Given the description of an element on the screen output the (x, y) to click on. 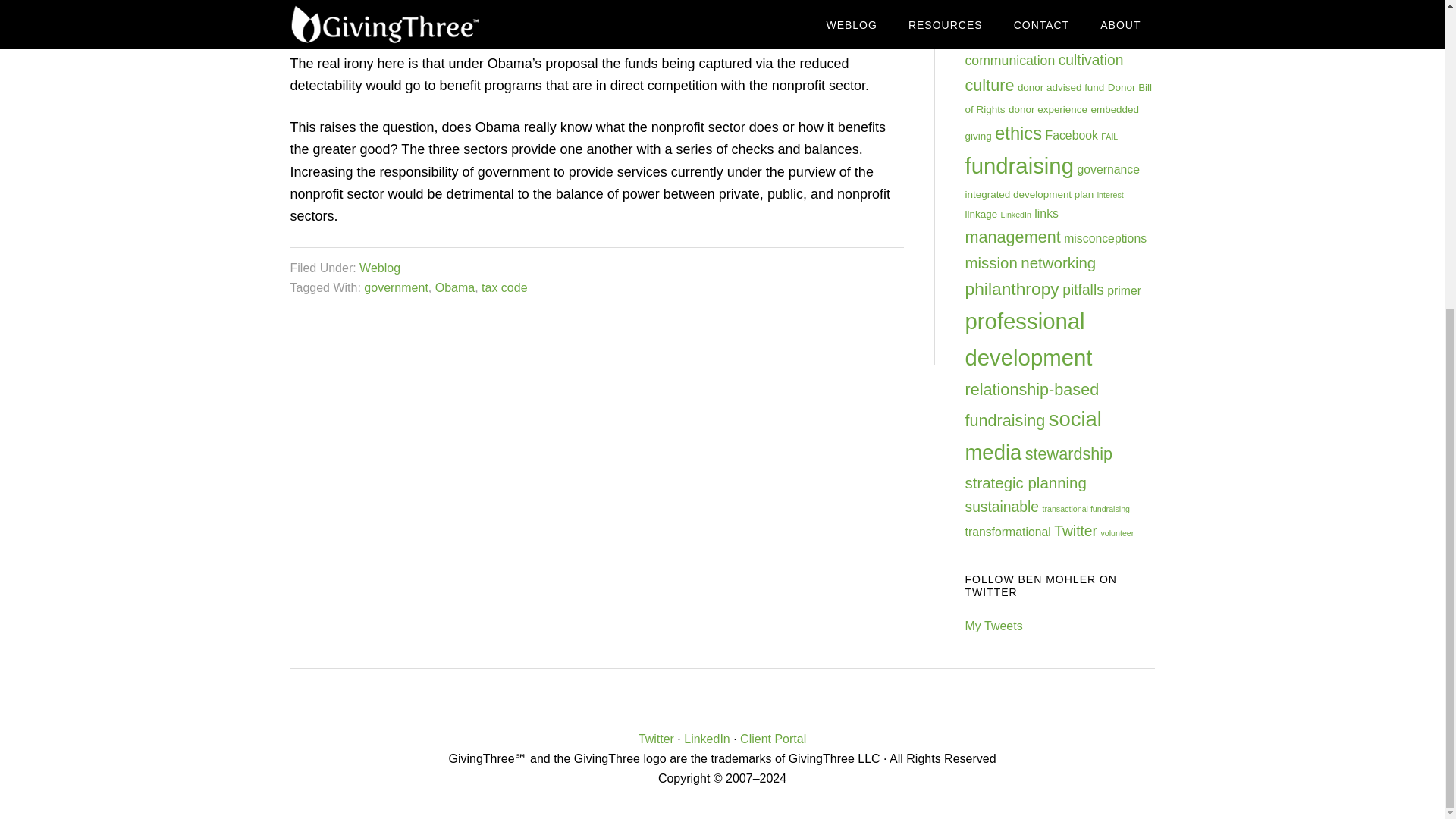
Code of Ethical Principles and Standards (1052, 23)
donor experience (1048, 109)
ethics (1018, 133)
fundraising (1018, 165)
Donor Bill of Rights (1057, 97)
FAIL (1109, 135)
government (396, 287)
communication (1008, 60)
culture (988, 85)
donor advised fund (1060, 87)
Obama (454, 287)
tax code (504, 287)
Weblog (379, 267)
proposal to limit deductions on charity (402, 3)
Facebook (1071, 134)
